Given the description of an element on the screen output the (x, y) to click on. 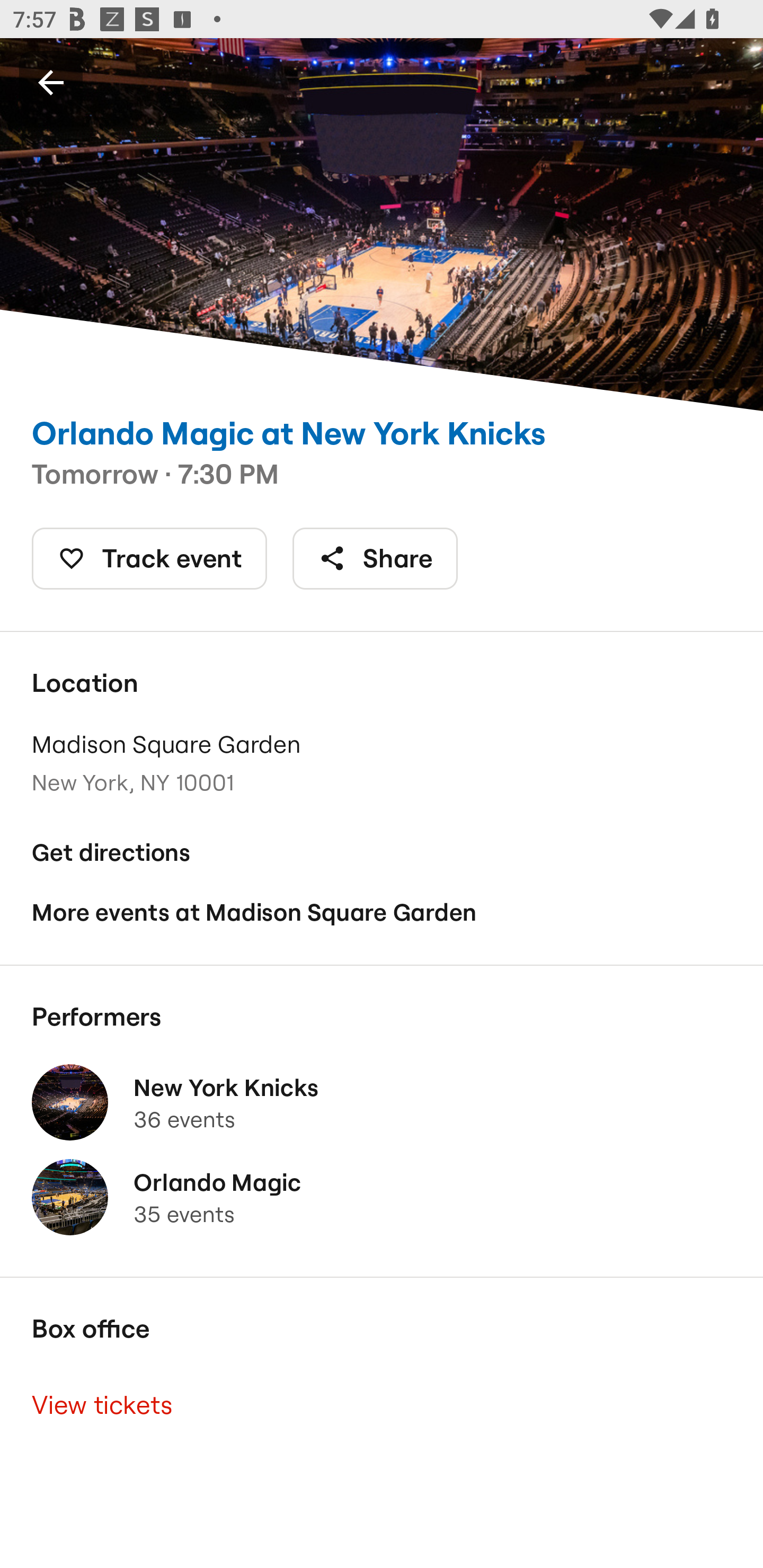
Back (50, 81)
Track event (149, 557)
Share (374, 557)
Get directions (381, 852)
More events at Madison Square Garden (381, 912)
New York Knicks 36 events (381, 1102)
Orlando Magic 35 events (381, 1196)
View tickets (381, 1405)
